Given the description of an element on the screen output the (x, y) to click on. 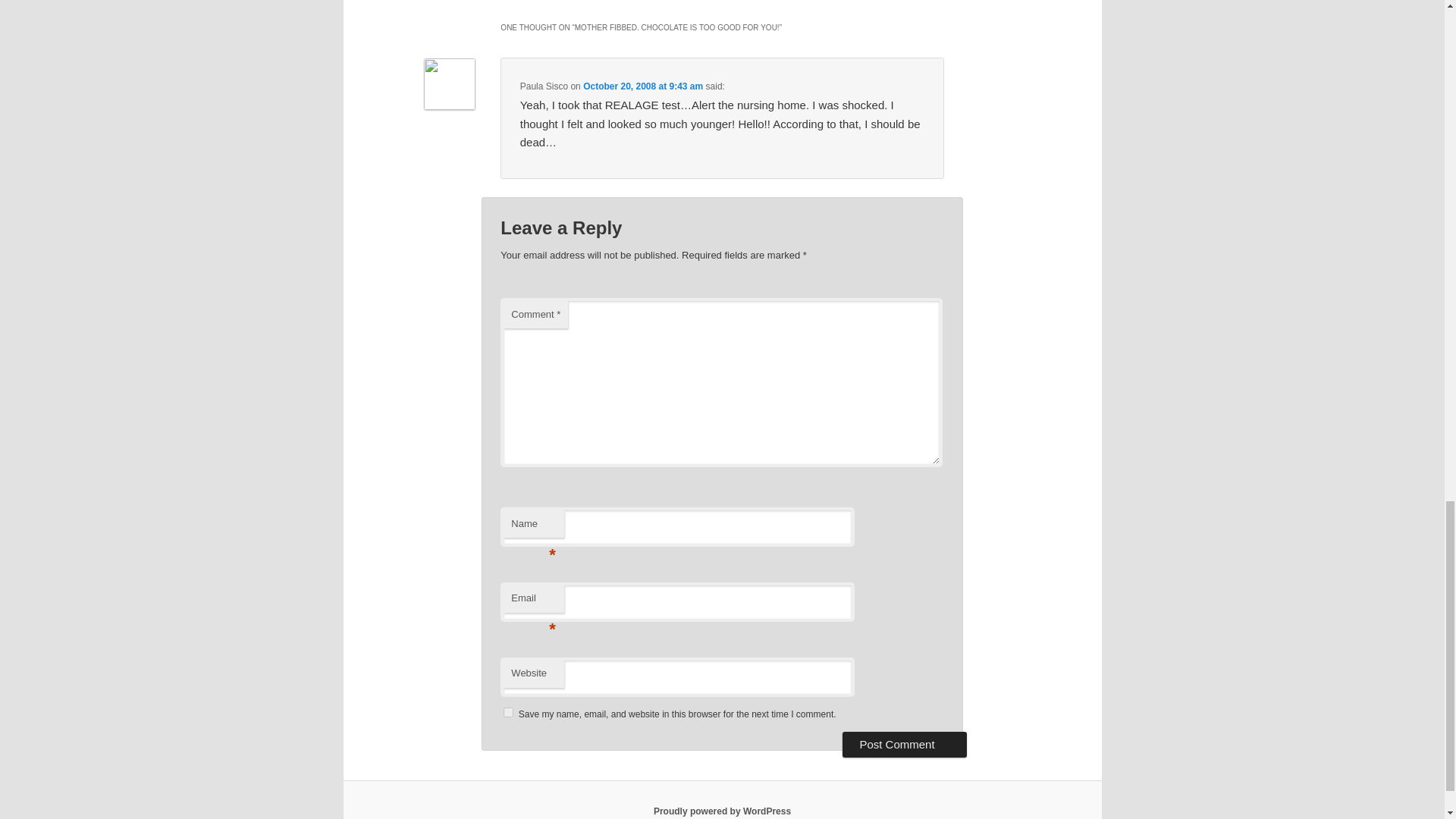
yes (508, 712)
Proudly powered by WordPress (721, 810)
Post Comment (904, 744)
October 20, 2008 at 9:43 am (643, 86)
Semantic Personal Publishing Platform (721, 810)
Post Comment (904, 744)
